Given the description of an element on the screen output the (x, y) to click on. 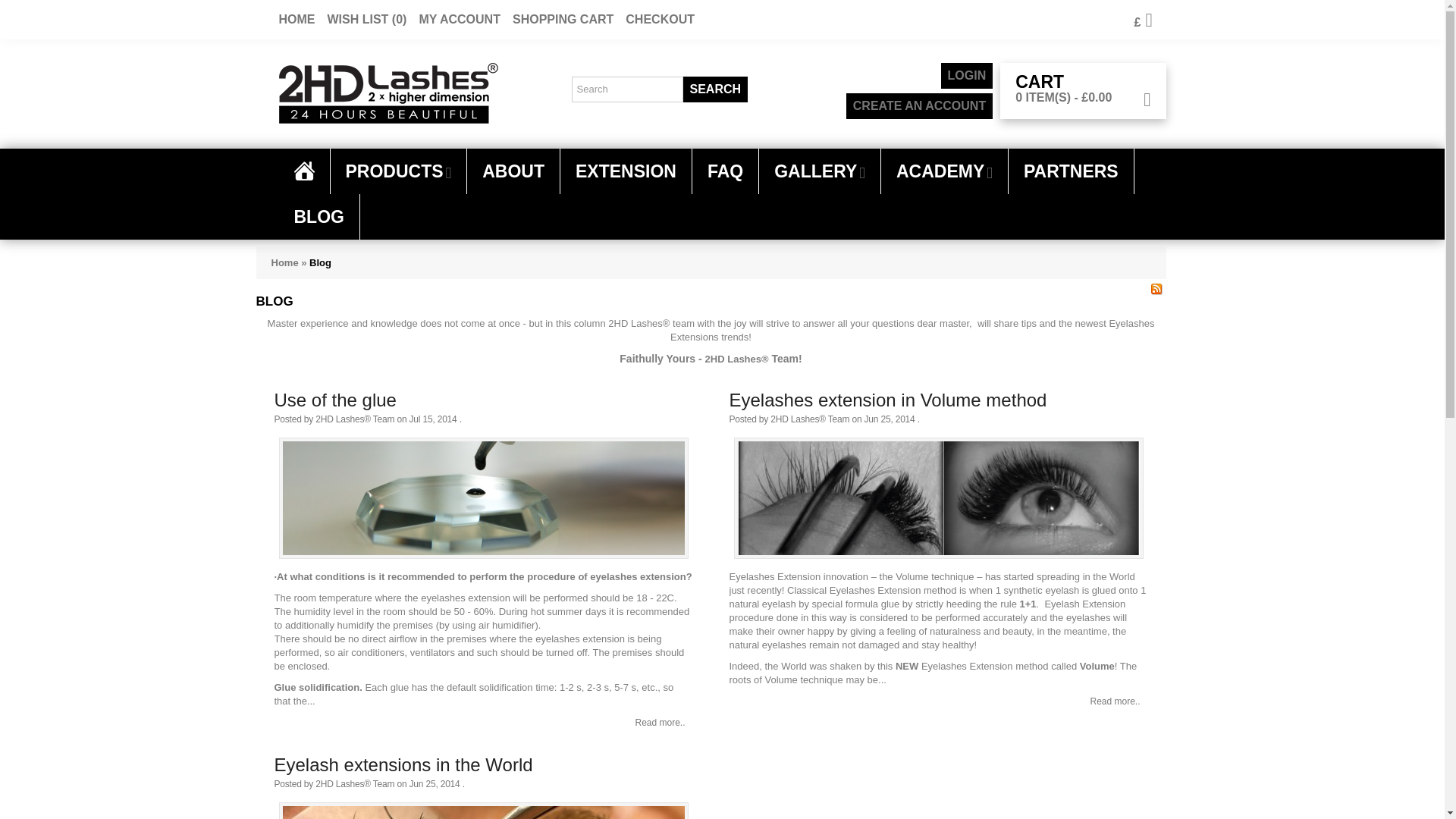
Eyelashes extension in Volume method (938, 503)
Eyelash extensions in the World (484, 810)
Eyelash extensions in the World (403, 765)
LOGIN (966, 75)
Eyelashes extension in Volume method (1114, 701)
HOME (297, 19)
Eyelashes extension in Volume method (887, 400)
2HD Lashes London (388, 93)
Use of the glue (335, 400)
CREATE AN ACCOUNT (918, 105)
